Given the description of an element on the screen output the (x, y) to click on. 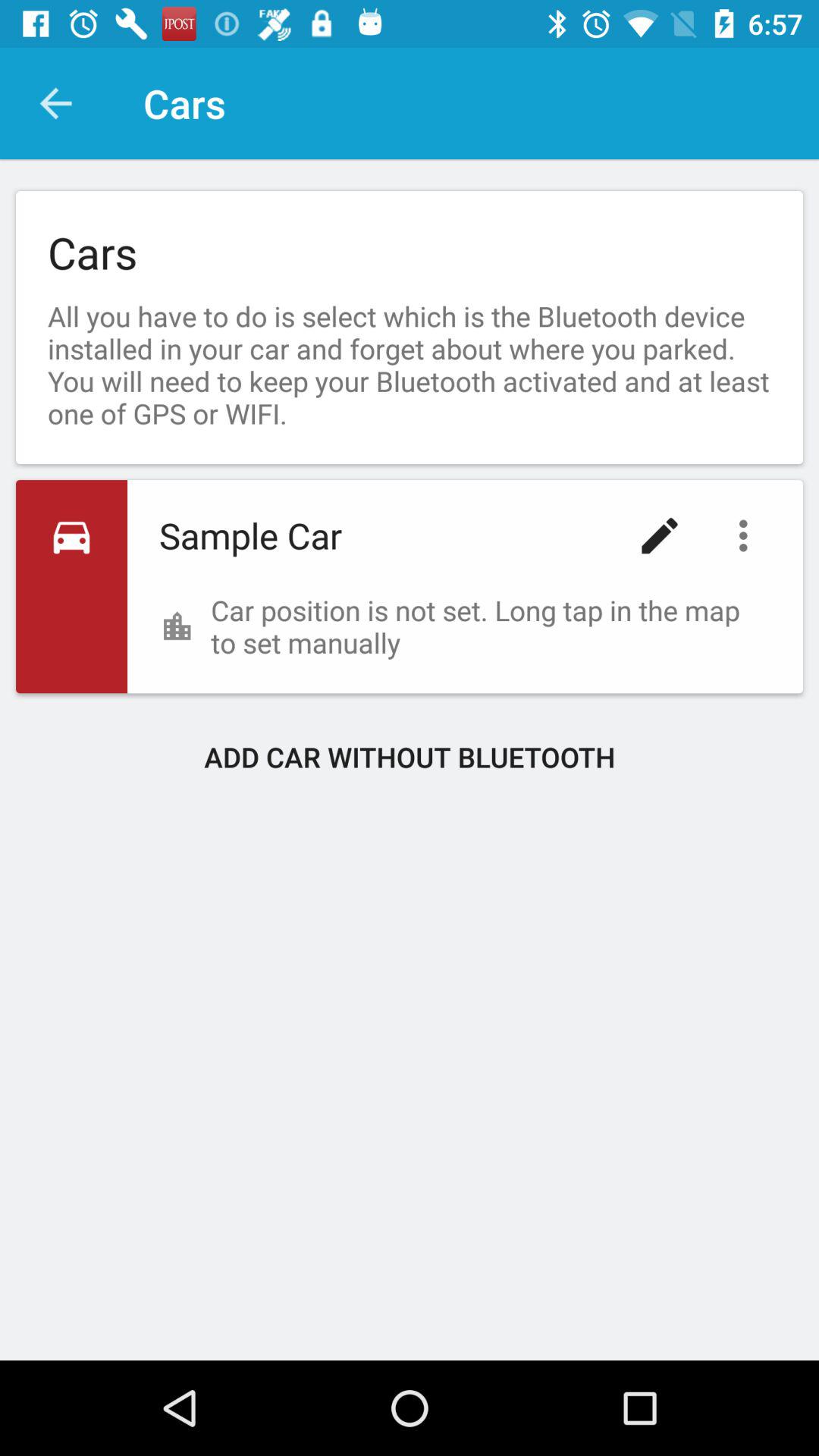
turn on add car without (409, 756)
